Given the description of an element on the screen output the (x, y) to click on. 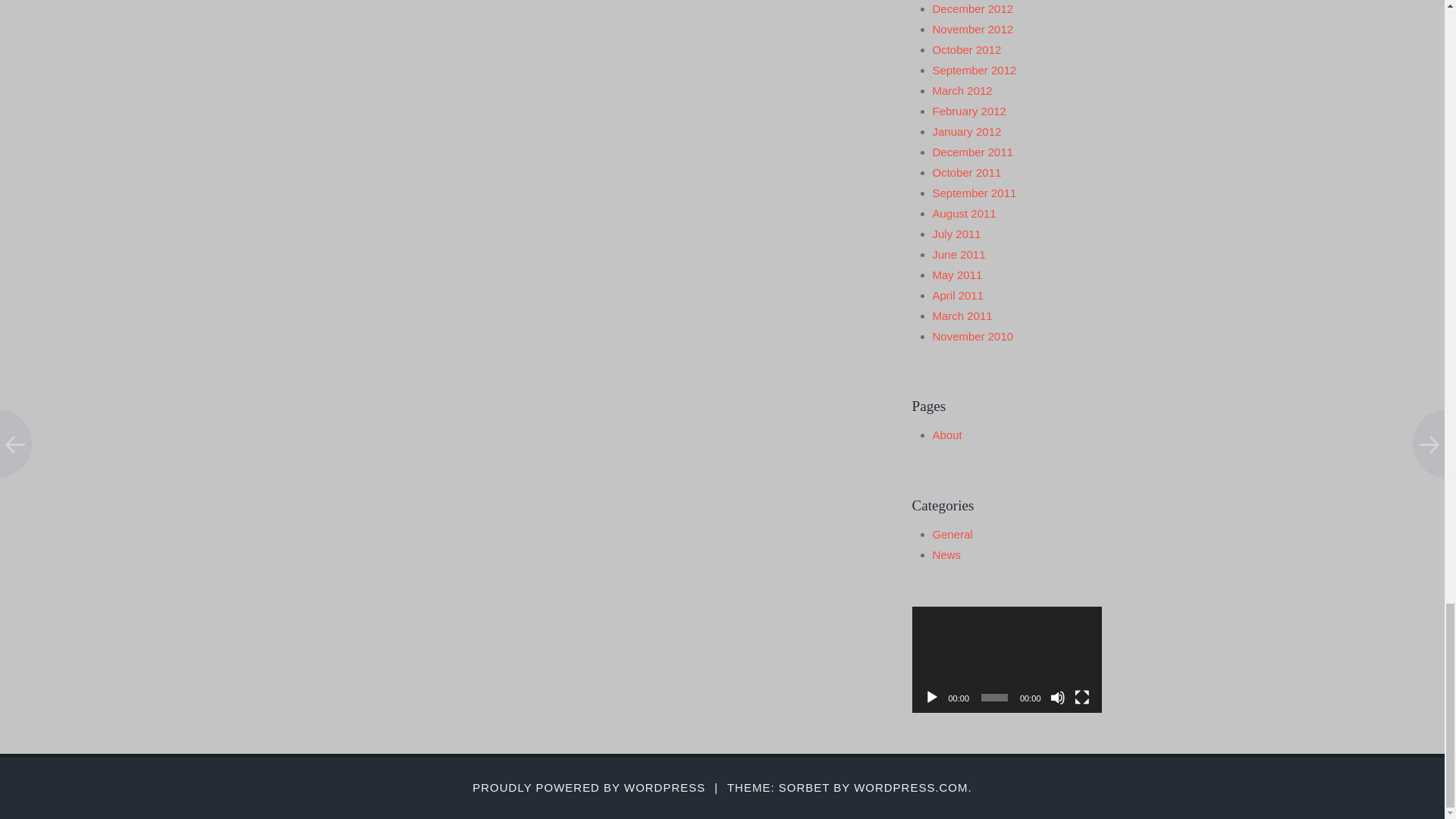
Mute (1056, 697)
Fullscreen (1081, 697)
Play (931, 697)
